Given the description of an element on the screen output the (x, y) to click on. 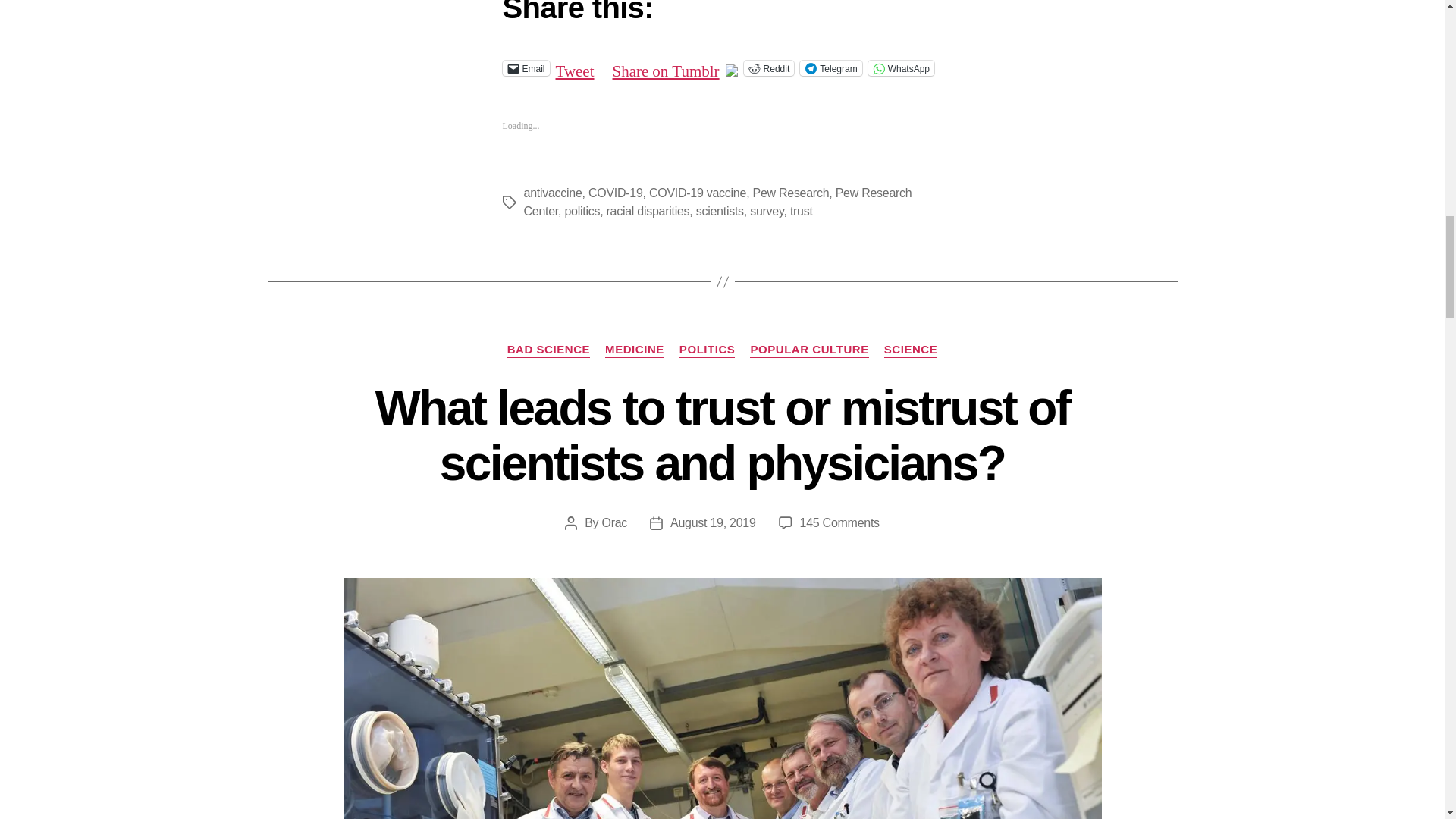
WhatsApp (900, 68)
Share on Tumblr (665, 67)
Reddit (769, 68)
Share on Tumblr (665, 67)
COVID-19 (615, 192)
Click to email a link to a friend (525, 68)
Click to share on Reddit (769, 68)
Email (525, 68)
Telegram (830, 68)
Tweet (575, 67)
